Given the description of an element on the screen output the (x, y) to click on. 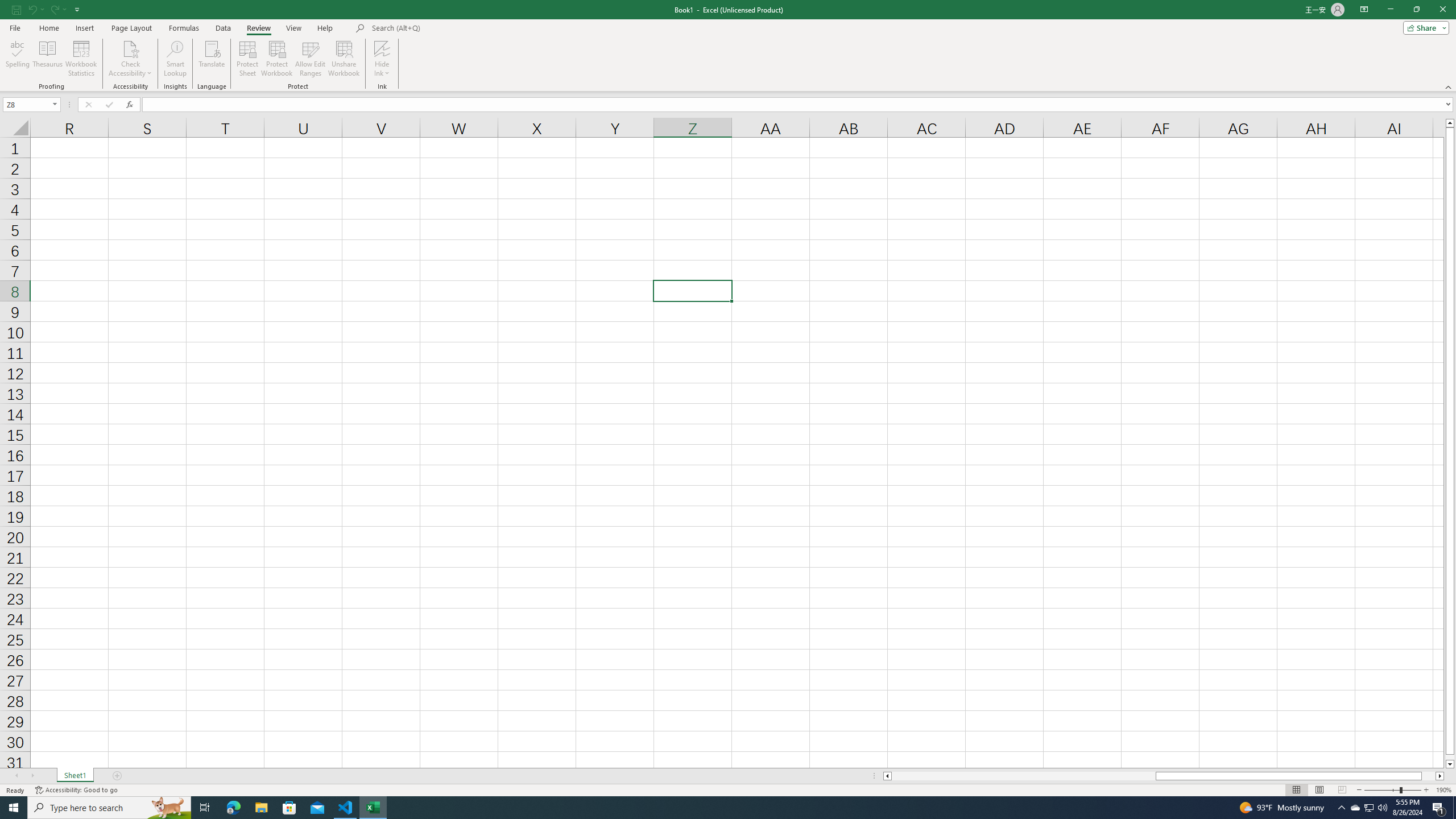
Spelling... (17, 58)
Thesaurus... (47, 58)
Hide Ink (381, 48)
Workbook Statistics (81, 58)
